Given the description of an element on the screen output the (x, y) to click on. 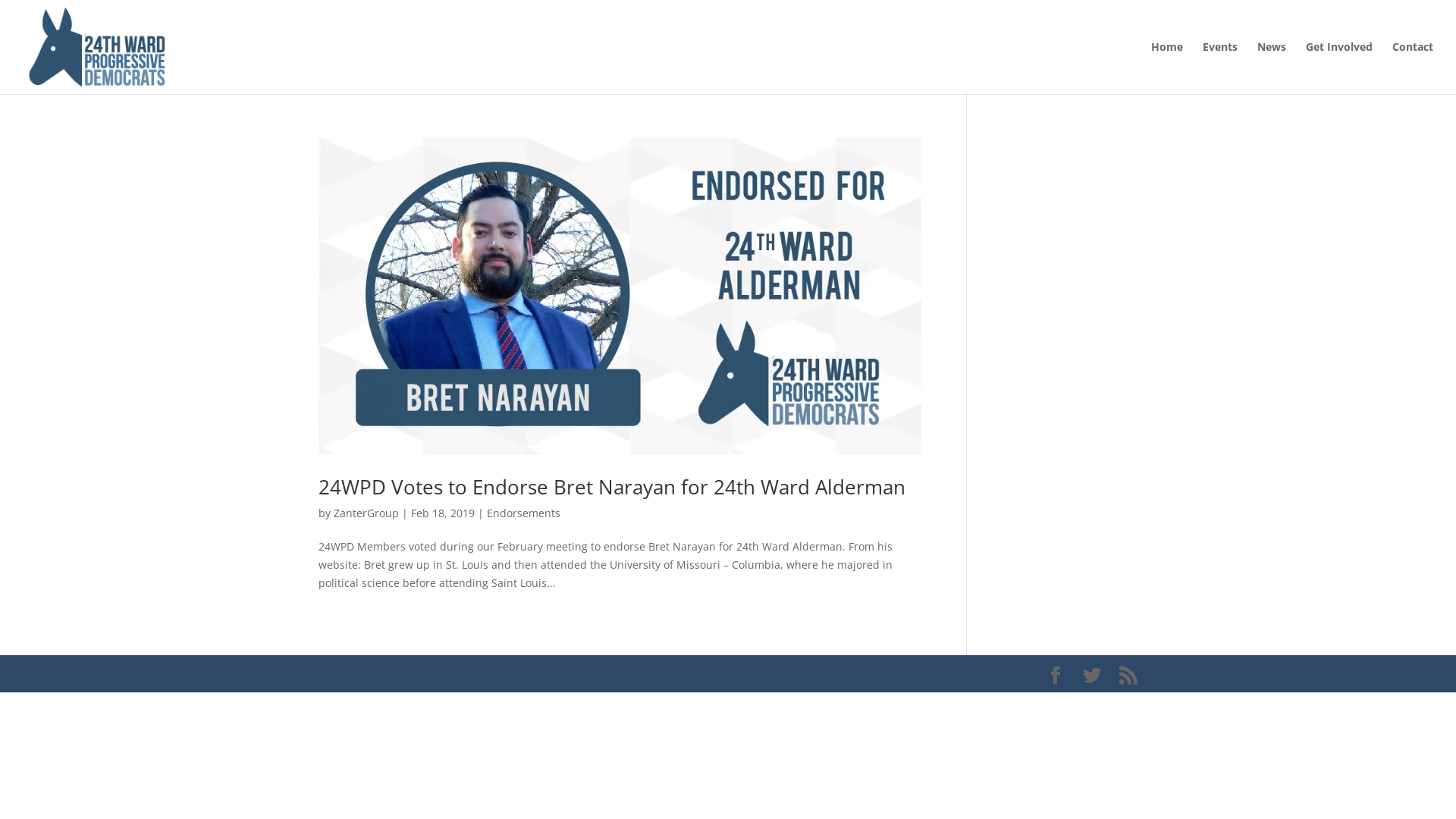
Contact Element type: text (1412, 67)
24WPD Votes to Endorse Bret Narayan for 24th Ward Alderman Element type: text (611, 486)
Events Element type: text (1219, 67)
Get Involved Element type: text (1338, 67)
Home Element type: text (1167, 67)
ZanterGroup Element type: text (365, 512)
News Element type: text (1271, 67)
Endorsements Element type: text (523, 512)
